Given the description of an element on the screen output the (x, y) to click on. 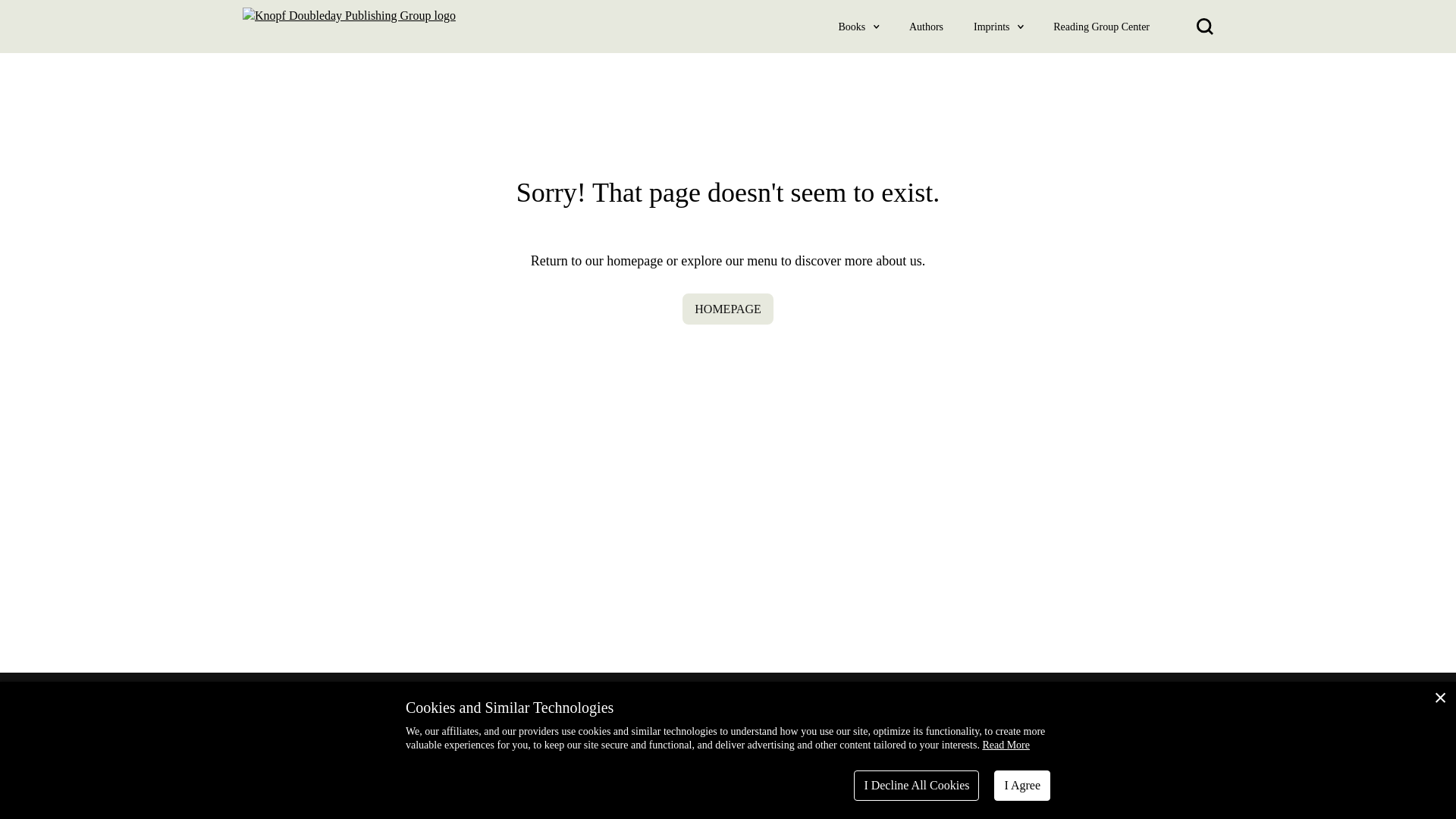
Books (852, 26)
Reading Group Center (1101, 26)
Imprints (992, 26)
HOMEPAGE (727, 308)
Authors (925, 26)
